Given the description of an element on the screen output the (x, y) to click on. 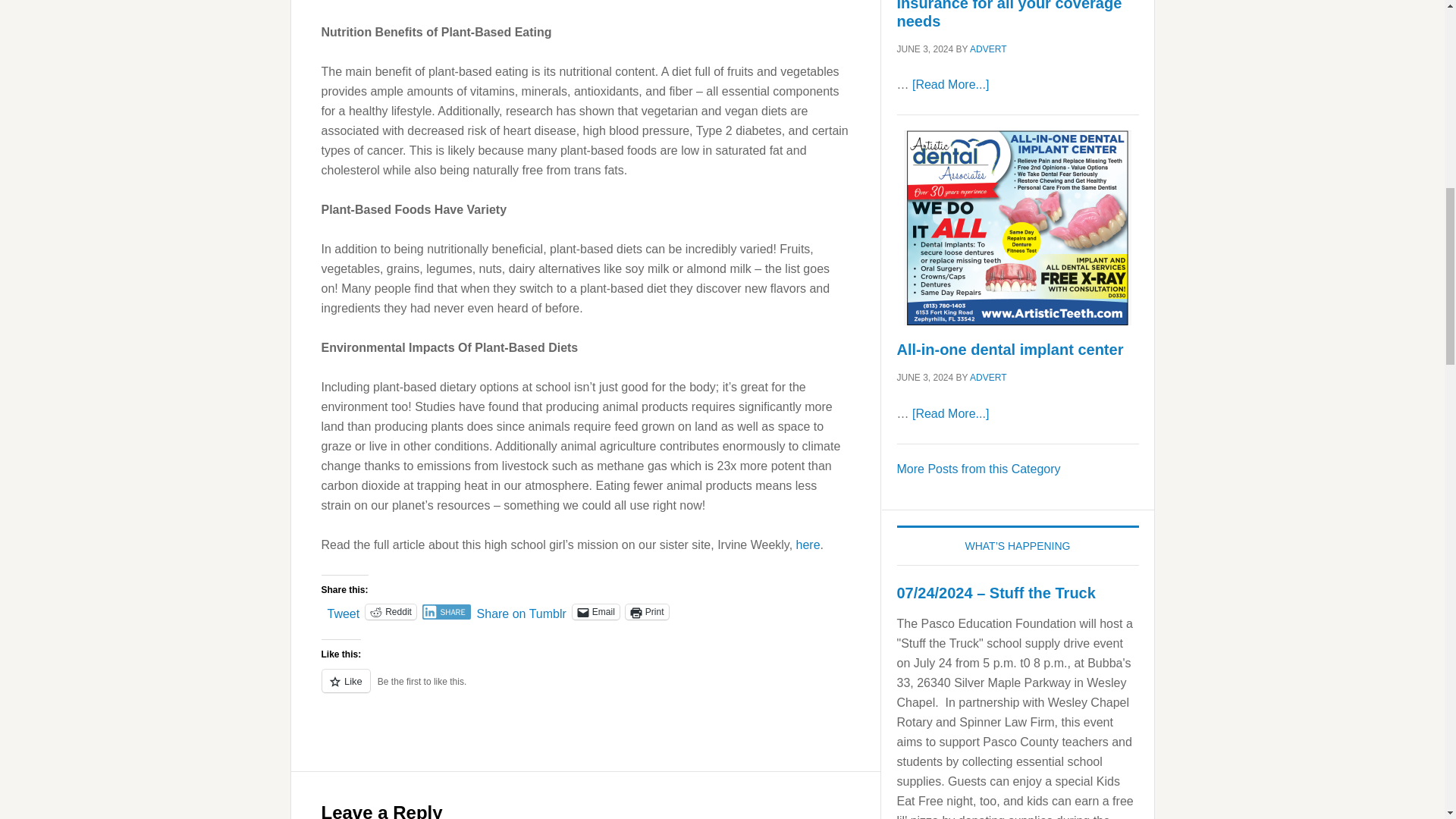
Share on Tumblr (521, 611)
Like or Reblog (585, 689)
Click to email a link to a friend (596, 611)
Click to print (647, 611)
Click to share on Reddit (390, 611)
Sponsored Content (977, 468)
